Given the description of an element on the screen output the (x, y) to click on. 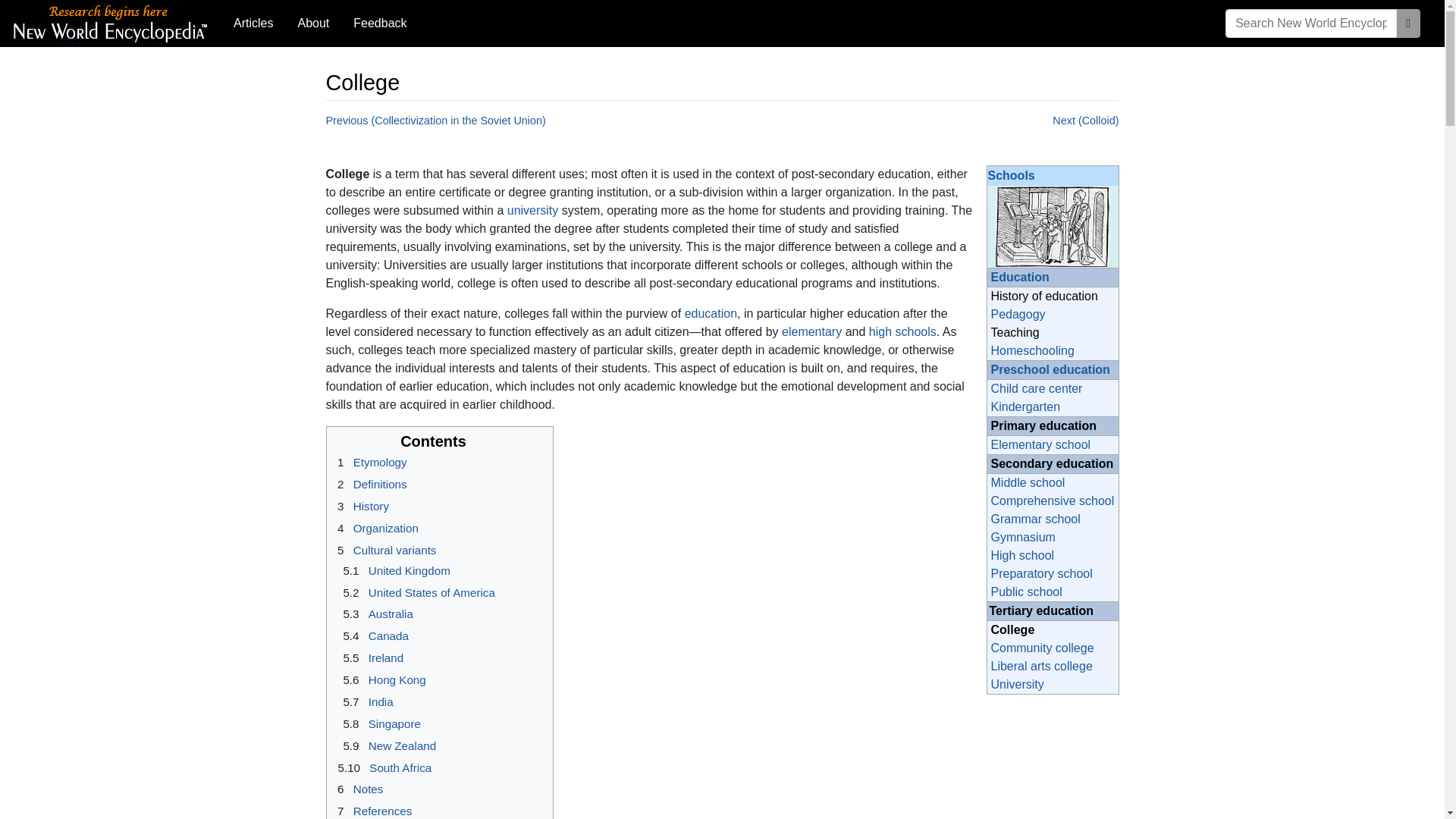
3 History (360, 505)
Middle school (1027, 481)
Public school (1025, 591)
High school (1022, 554)
Preschool education (1049, 369)
High school (1022, 554)
elementary (811, 331)
Grammar school (1035, 518)
Homeschooling (1032, 350)
Comprehensive school (1051, 500)
